Given the description of an element on the screen output the (x, y) to click on. 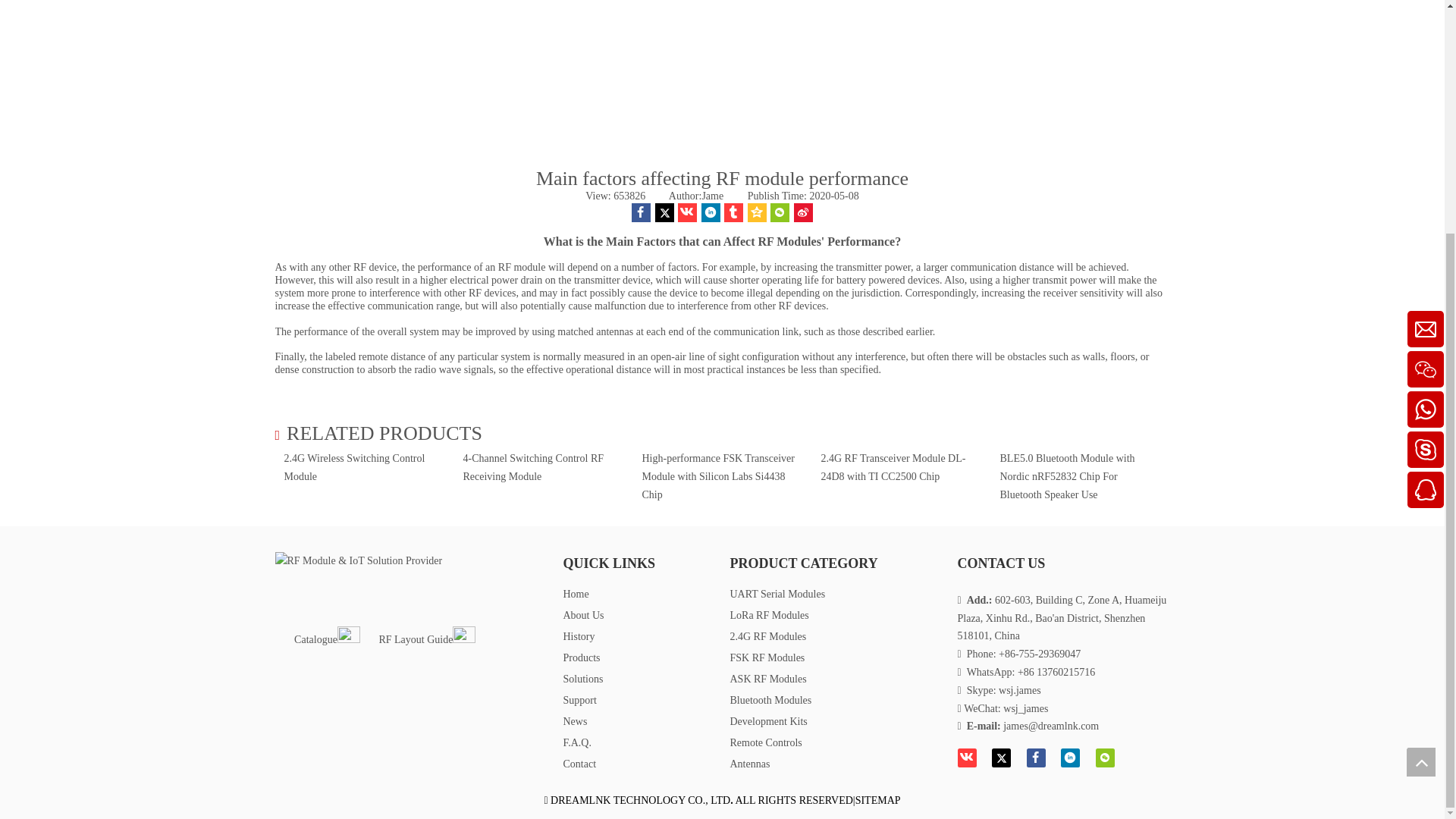
4-Channel Switching Control RF Receiving Module (533, 467)
2.4G Wireless Switching Control Module (354, 467)
vk (687, 212)
Linkedin (710, 212)
Twitter (664, 212)
2.4G RF Transceiver Module DL-24D8 with TI CC2500 Chip (893, 467)
tumblr (732, 212)
Facebook (640, 212)
